Given the description of an element on the screen output the (x, y) to click on. 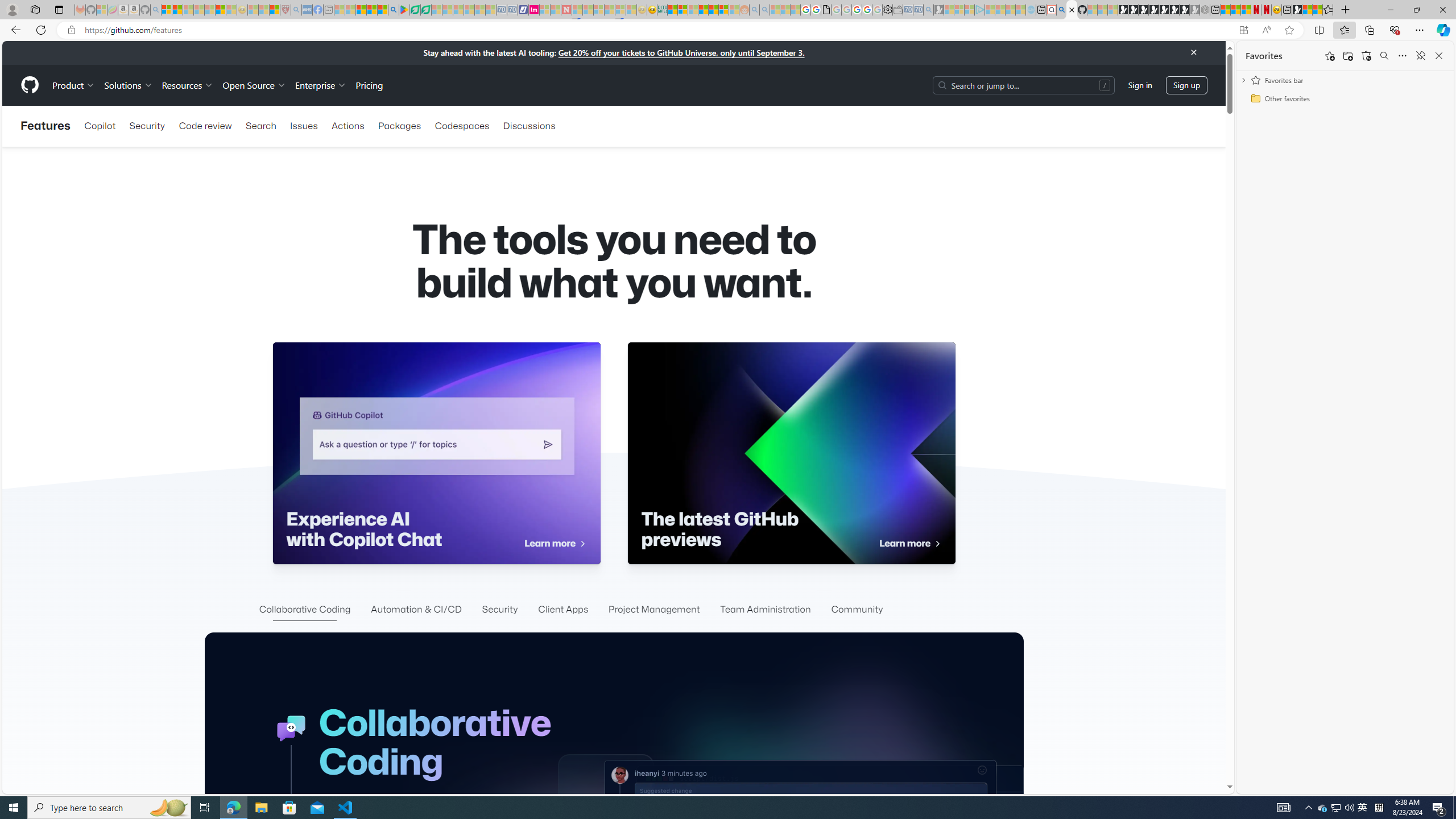
Kinda Frugal - MSN (713, 9)
Search favorites (1383, 55)
Wildlife - MSN (1307, 9)
GitHub Collaboration Icon (290, 728)
Collaborative Coding (304, 609)
